Given the description of an element on the screen output the (x, y) to click on. 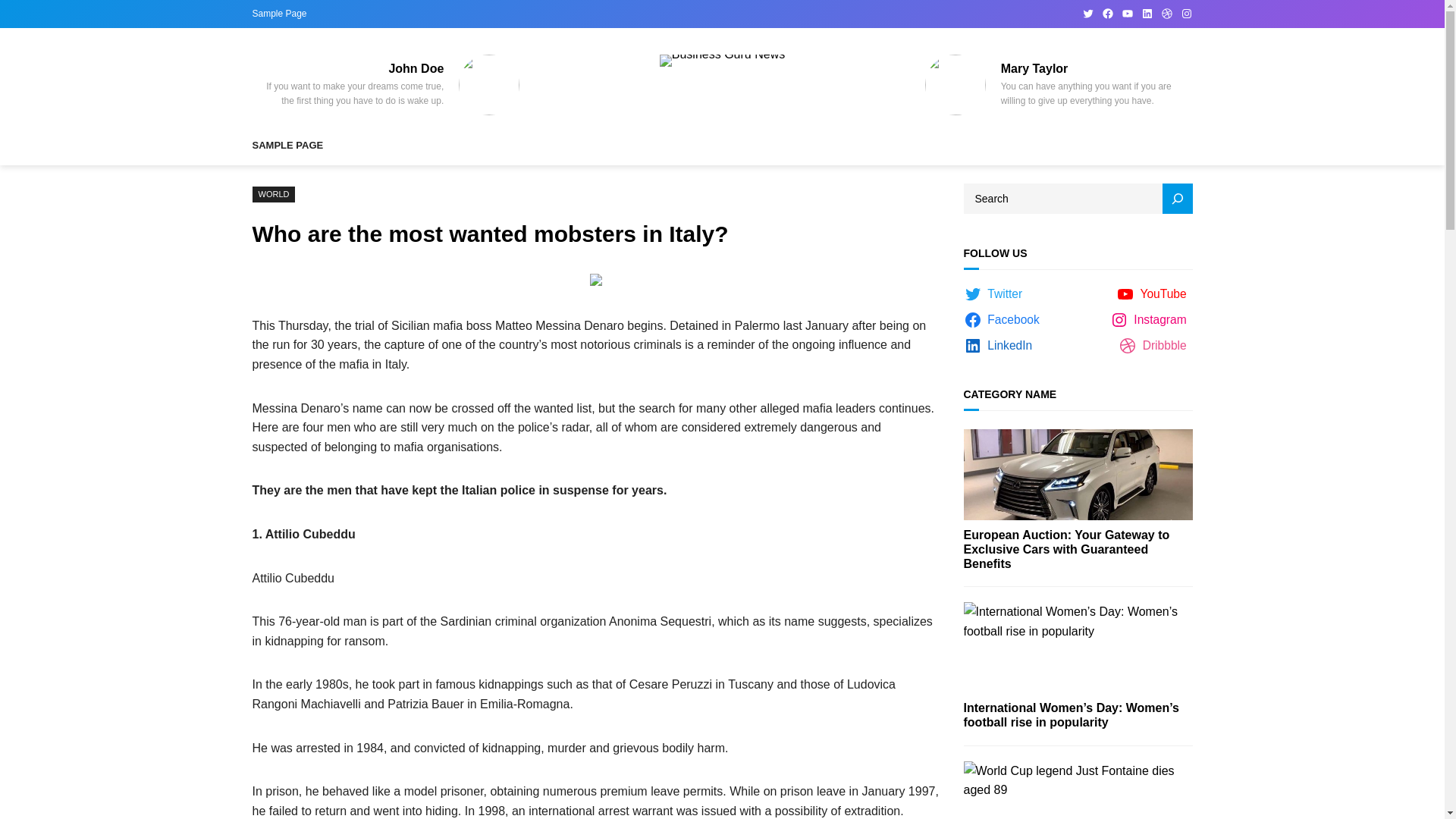
YouTube (1126, 13)
Instagram (1150, 320)
Dribbble (1155, 345)
Facebook (1003, 320)
YouTube (1154, 294)
CATEGORY NAME (1009, 394)
WORLD (273, 194)
Facebook (1106, 13)
Instagram (1185, 13)
LinkedIn (1000, 345)
Dribbble (1166, 13)
LinkedIn (1146, 13)
Sample Page (278, 13)
Twitter (994, 294)
